Given the description of an element on the screen output the (x, y) to click on. 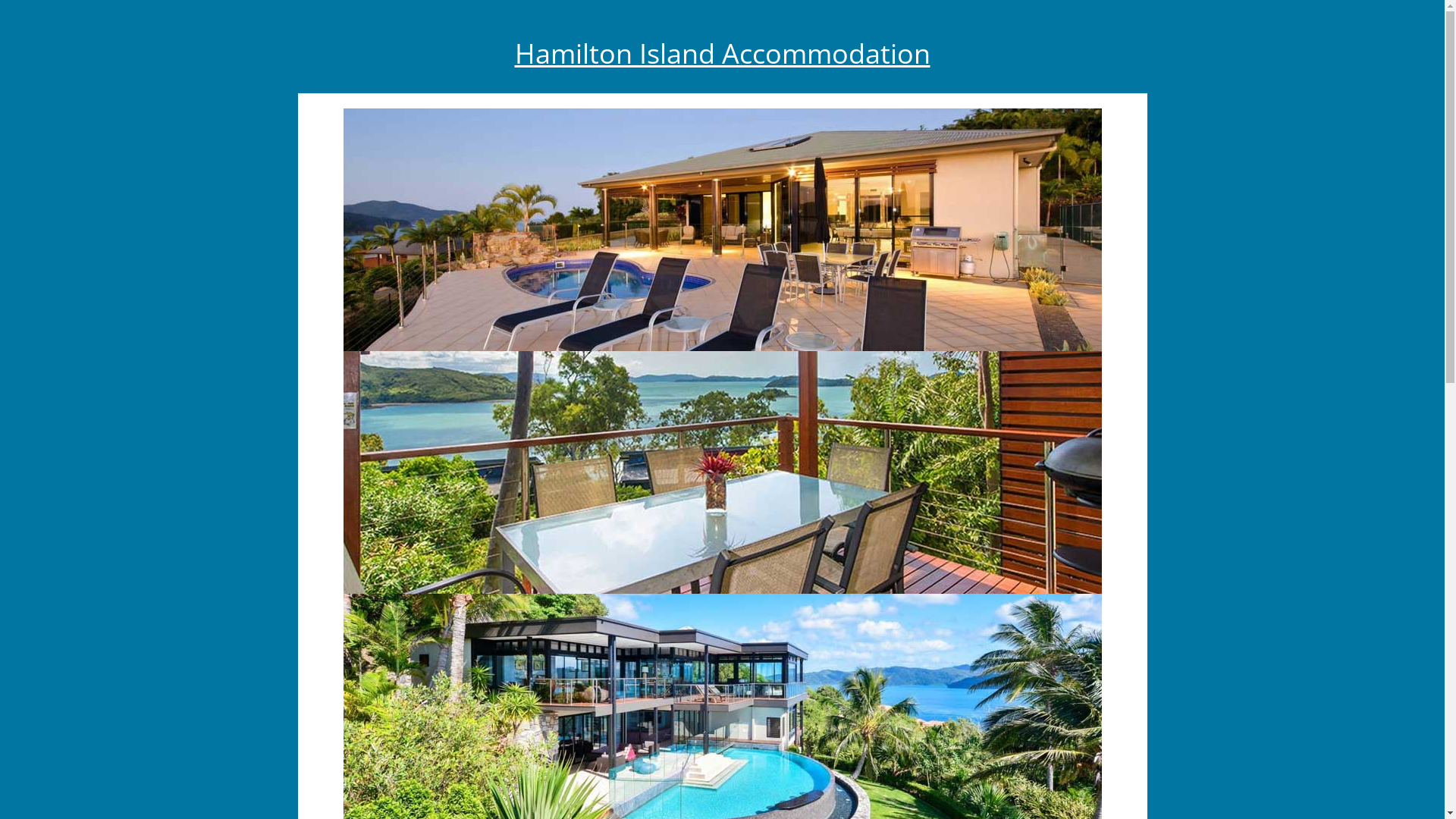
Hamilton Island Accommodation Element type: text (721, 53)
